Given the description of an element on the screen output the (x, y) to click on. 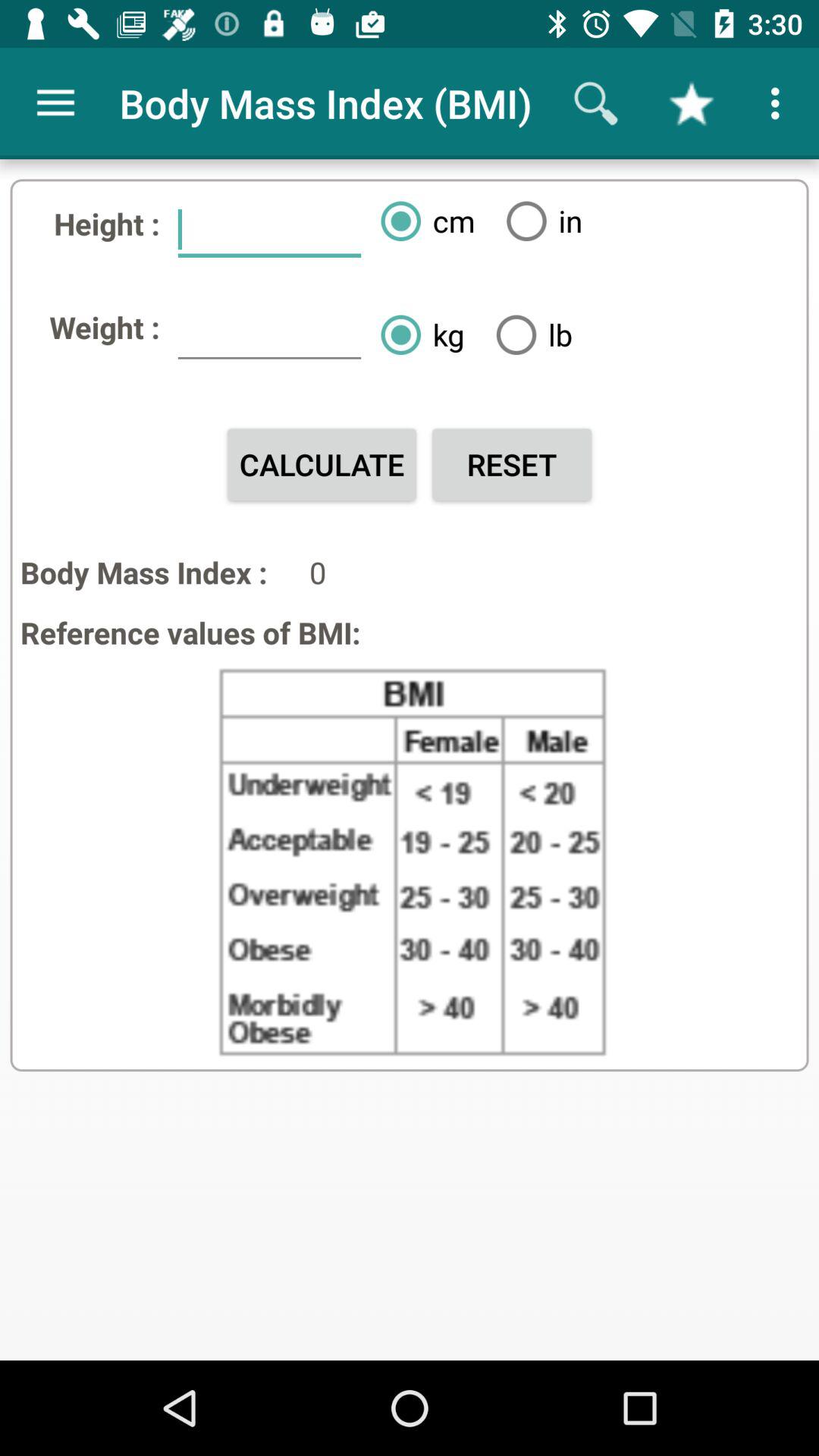
choose the calculate (321, 464)
